Given the description of an element on the screen output the (x, y) to click on. 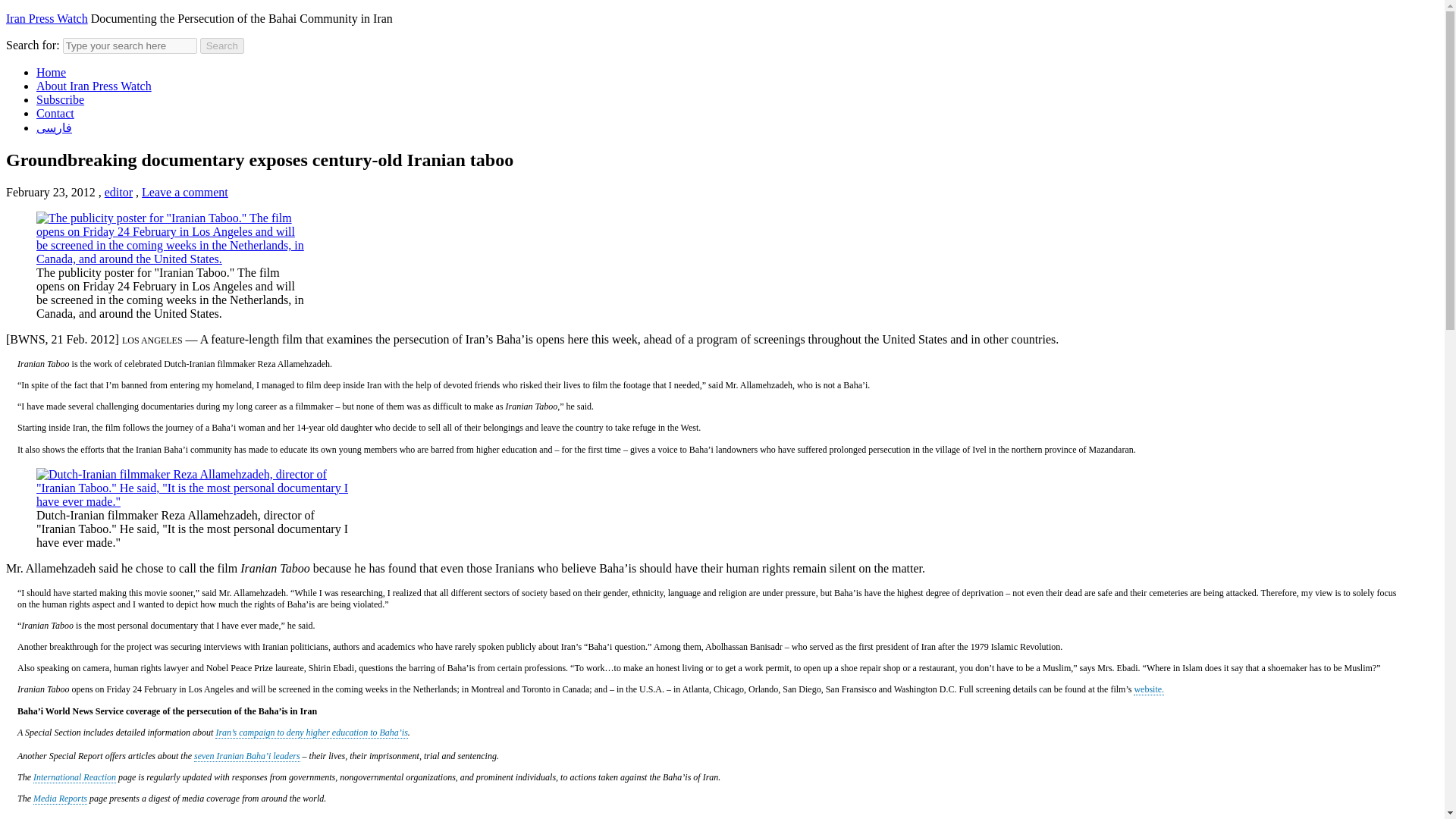
editor (118, 192)
Subscribe (60, 99)
Home (50, 72)
Posts by editor (118, 192)
Search (222, 45)
About Iran Press Watch (93, 85)
International Reaction (74, 777)
Contact (55, 113)
Leave a comment (184, 192)
Iran Press Watch (46, 18)
